Given the description of an element on the screen output the (x, y) to click on. 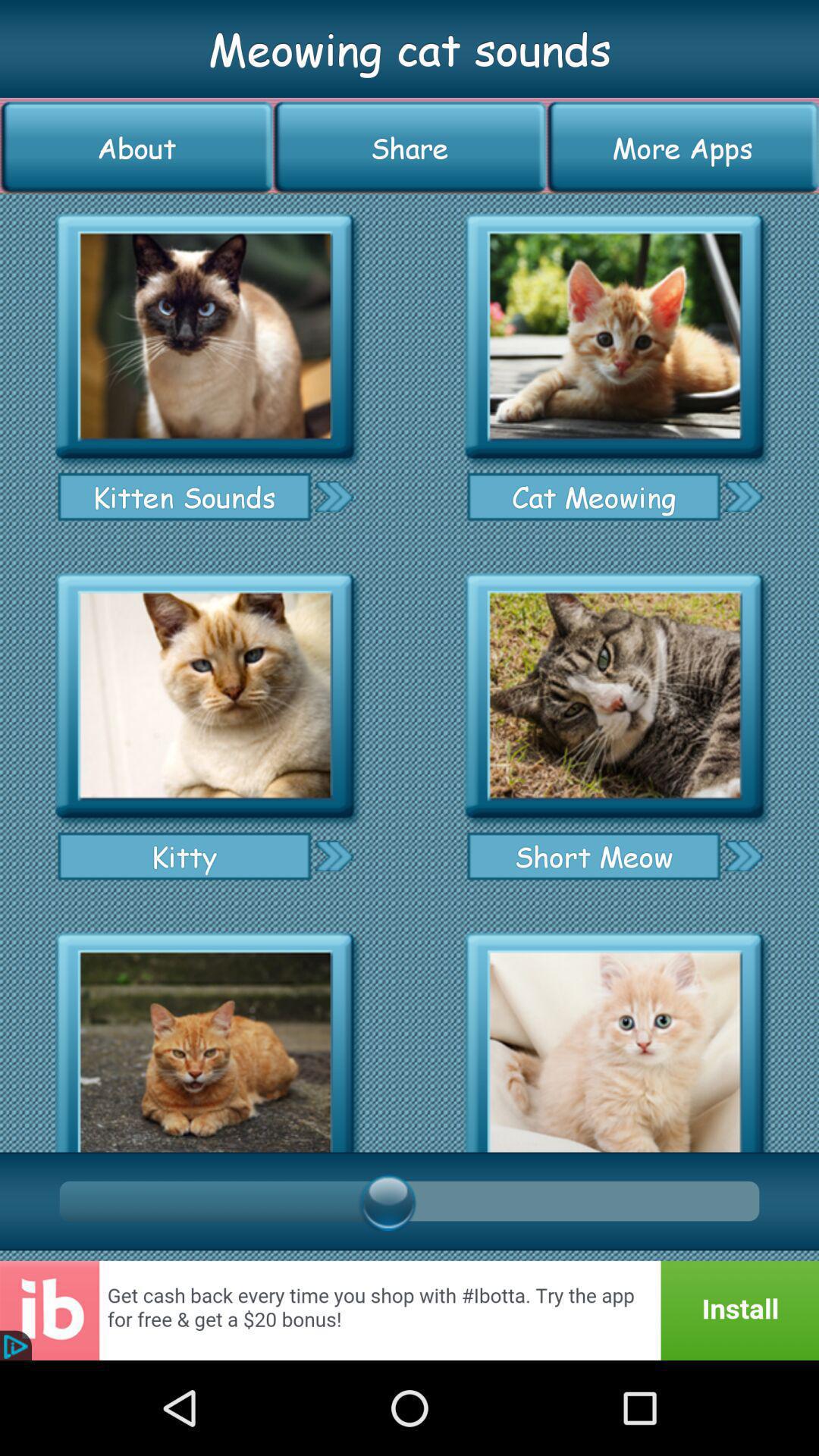
see more photos of this tag (333, 855)
